Given the description of an element on the screen output the (x, y) to click on. 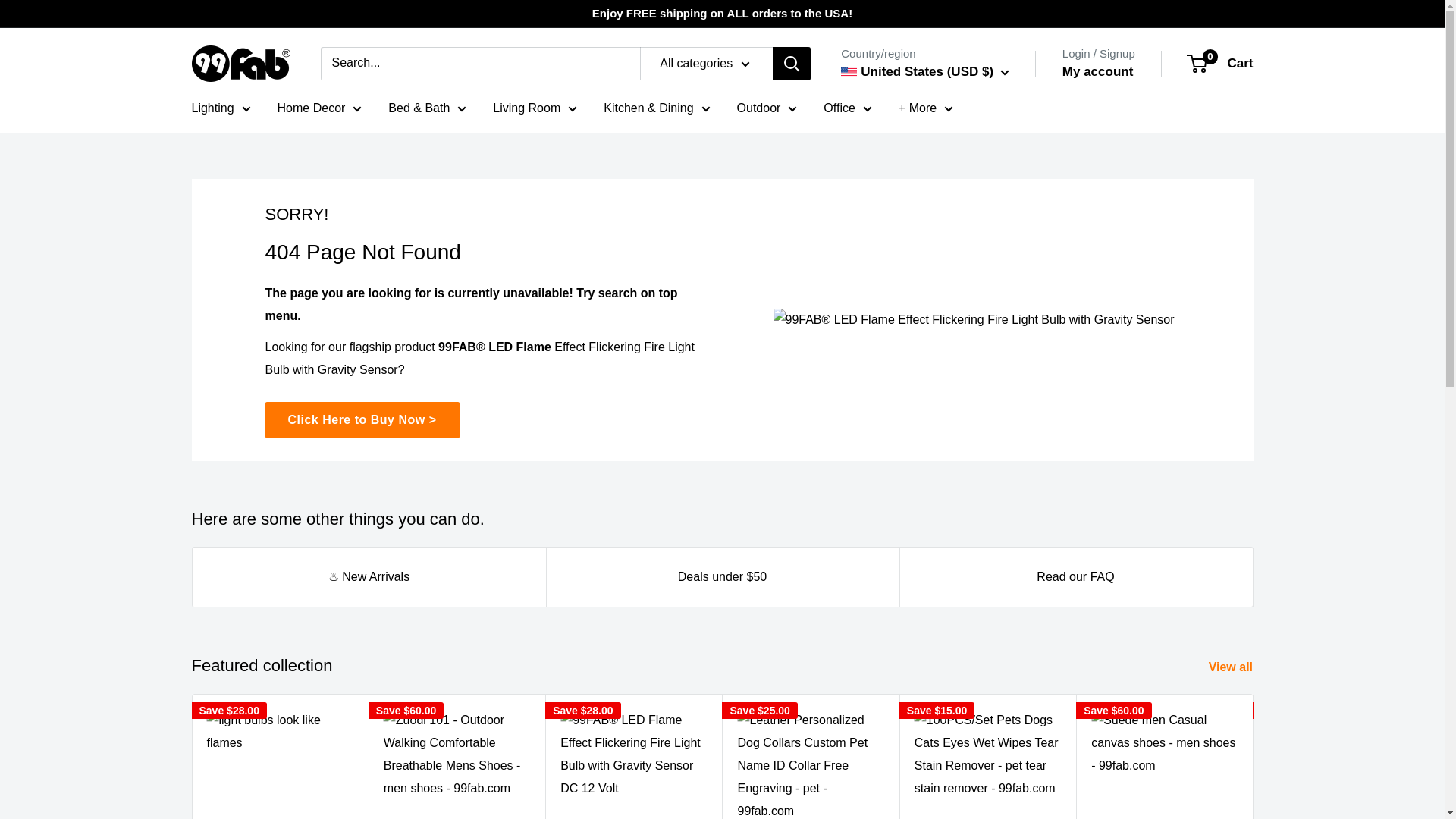
Enjoy FREE shipping on ALL orders to the USA! (721, 13)
